Given the description of an element on the screen output the (x, y) to click on. 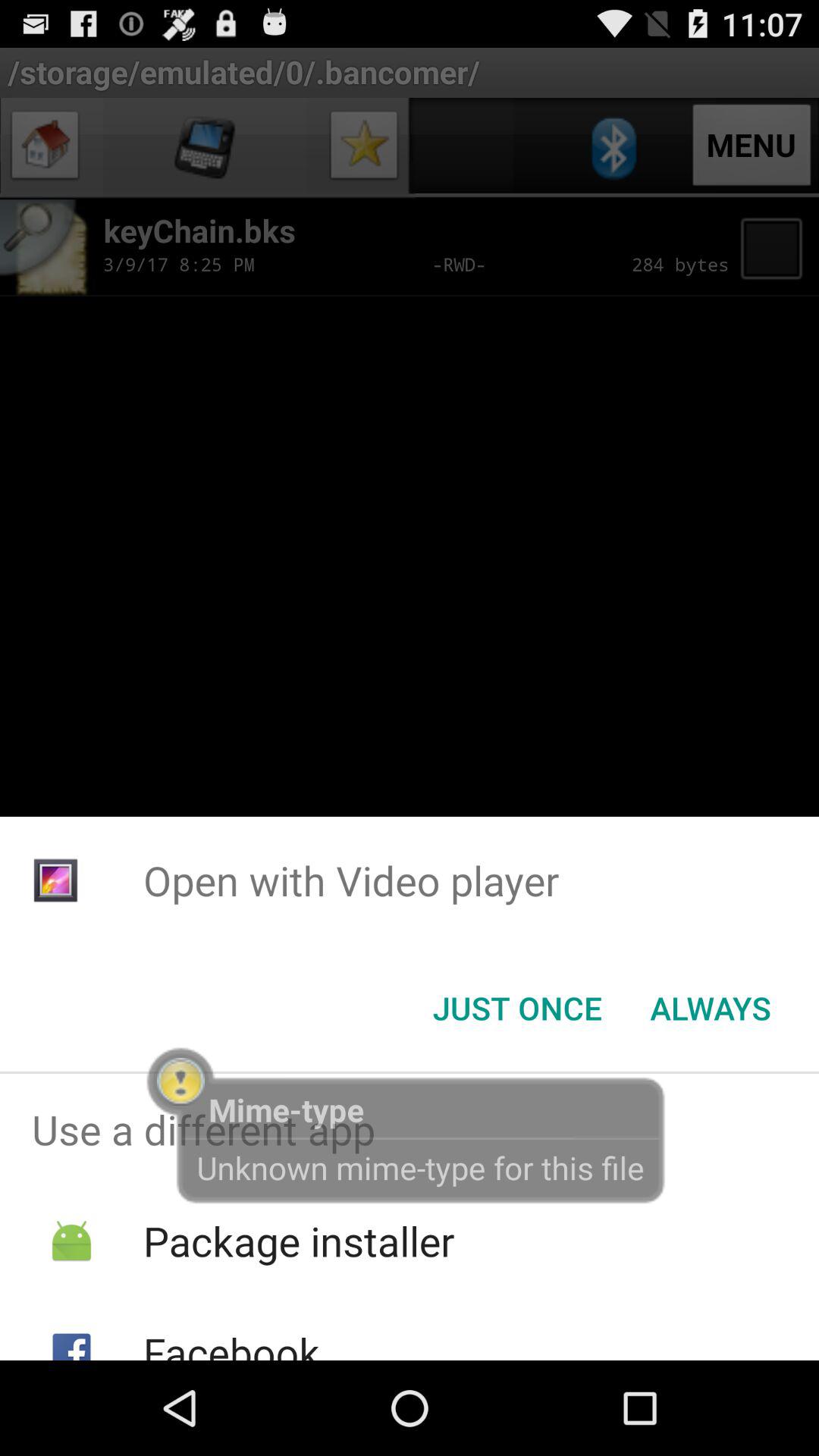
swipe until always icon (710, 1007)
